Given the description of an element on the screen output the (x, y) to click on. 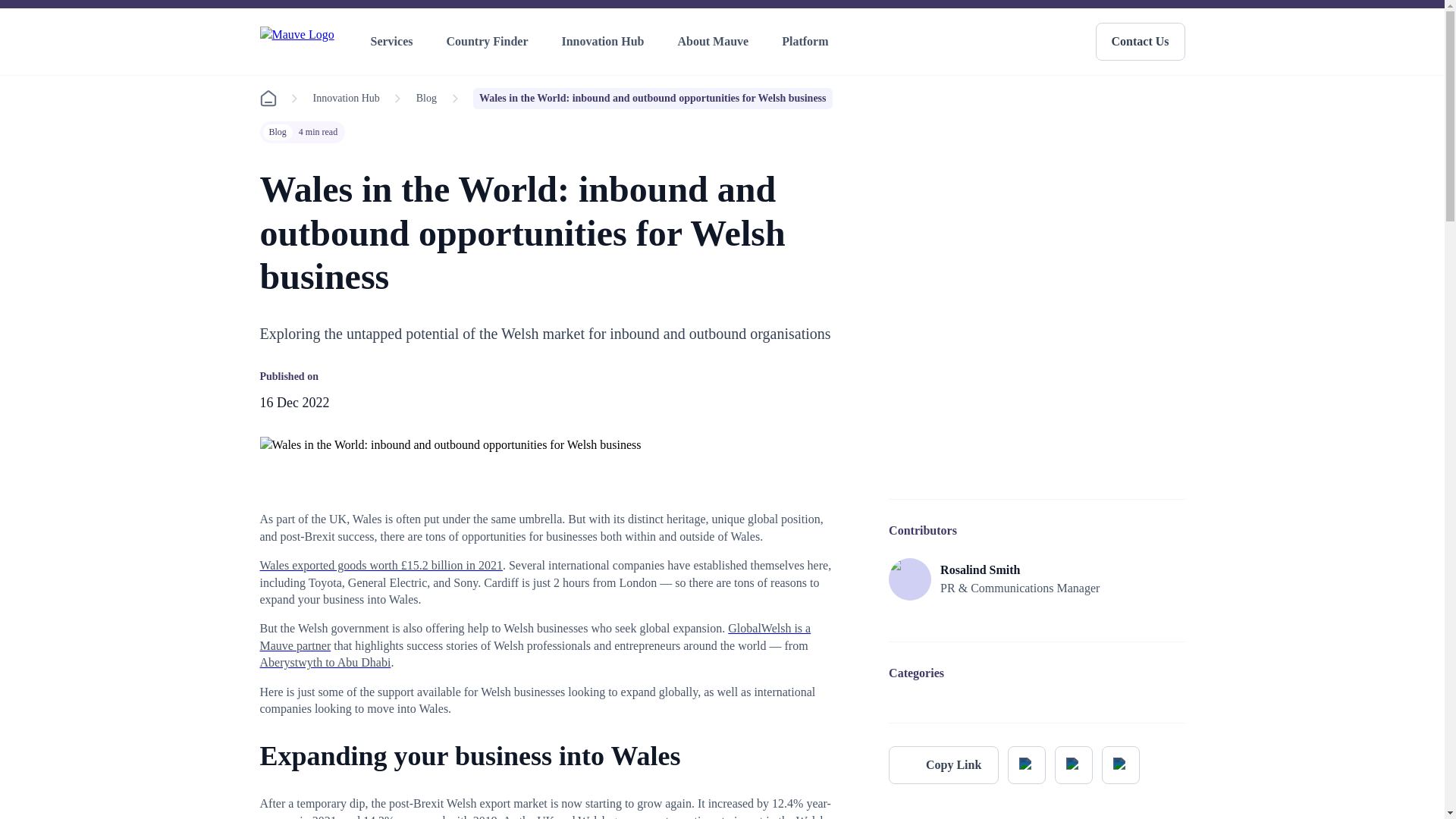
Country Finder (489, 41)
Services (394, 41)
About Mauve (716, 41)
Innovation Hub (605, 41)
Friday 16 December 2022 at 08:00:40 GMT (294, 402)
Platform (807, 41)
